Given the description of an element on the screen output the (x, y) to click on. 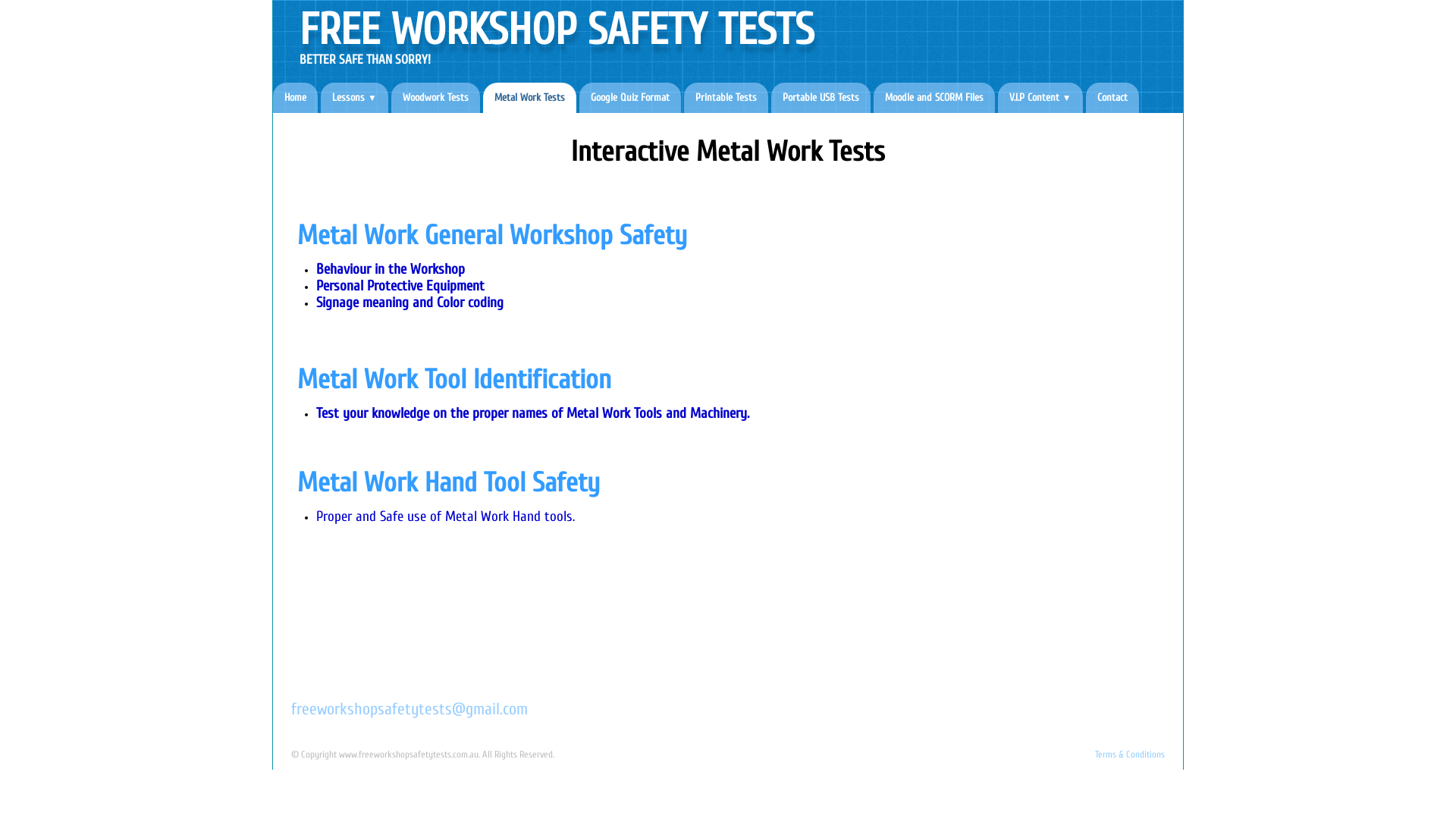
Contact Element type: text (1112, 96)
Portable USB Tests Element type: text (820, 96)
Terms & Conditions Element type: text (1129, 754)
Moodle and SCORM Files Element type: text (933, 96)
Metal Work Hand Tool Safety Element type: text (448, 482)
Metal Work Tests Element type: text (529, 96)
Metal Work Tool Identification Element type: text (454, 379)
Home Element type: text (295, 96)
Metal Work General Workshop Safety Element type: text (492, 235)
Google Quiz Format Element type: text (629, 96)
freeworkshopsafetytests@gmail.com Element type: text (409, 708)
Printable Tests Element type: text (726, 96)
Woodwork Tests Element type: text (435, 96)
